Given the description of an element on the screen output the (x, y) to click on. 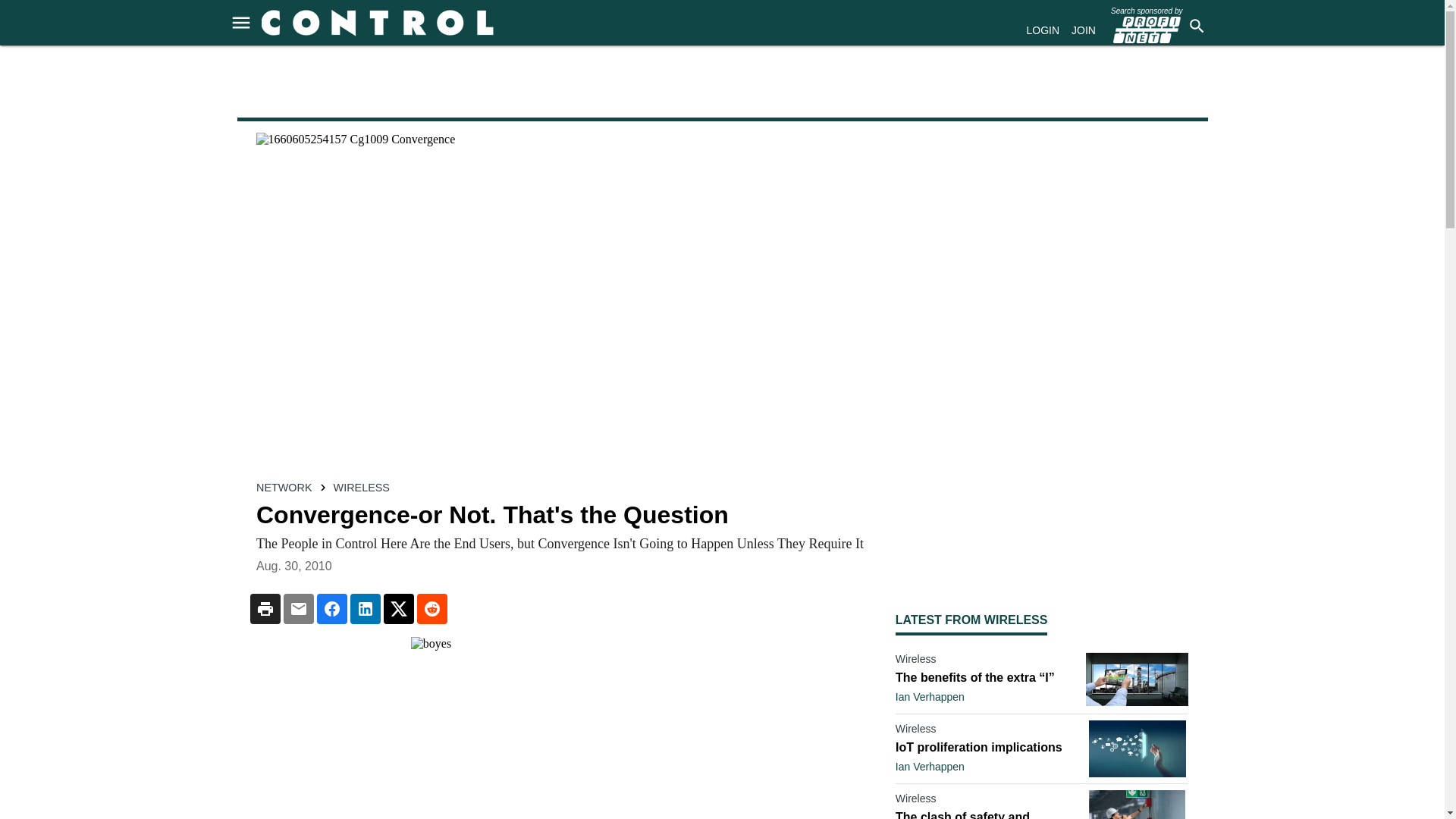
JOIN (1083, 30)
LOGIN (1042, 30)
boyes (560, 728)
